Given the description of an element on the screen output the (x, y) to click on. 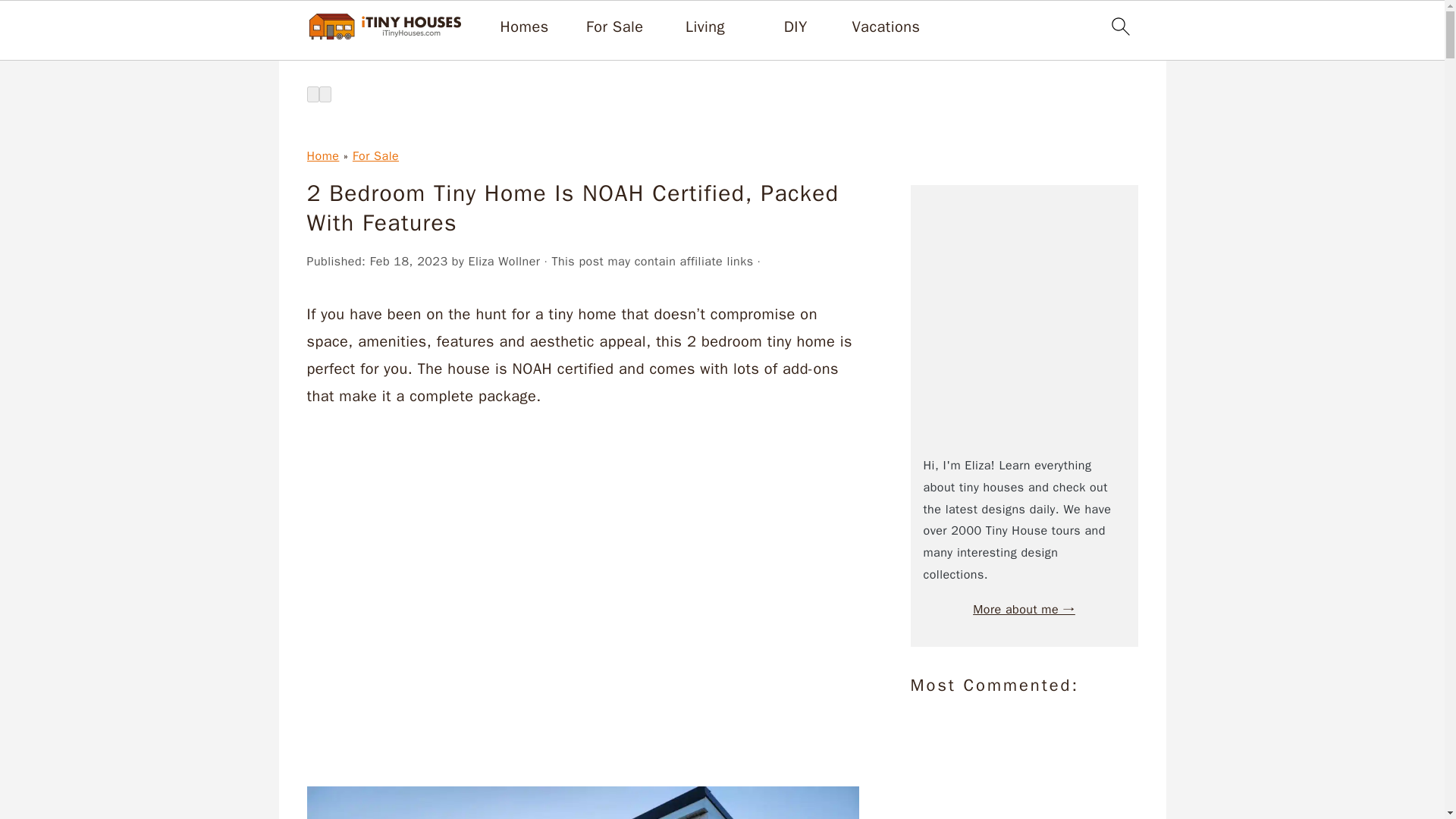
For Sale (614, 27)
Living (705, 27)
Homes (524, 27)
search icon (1119, 26)
Vacations (885, 27)
DIY (796, 27)
